Given the description of an element on the screen output the (x, y) to click on. 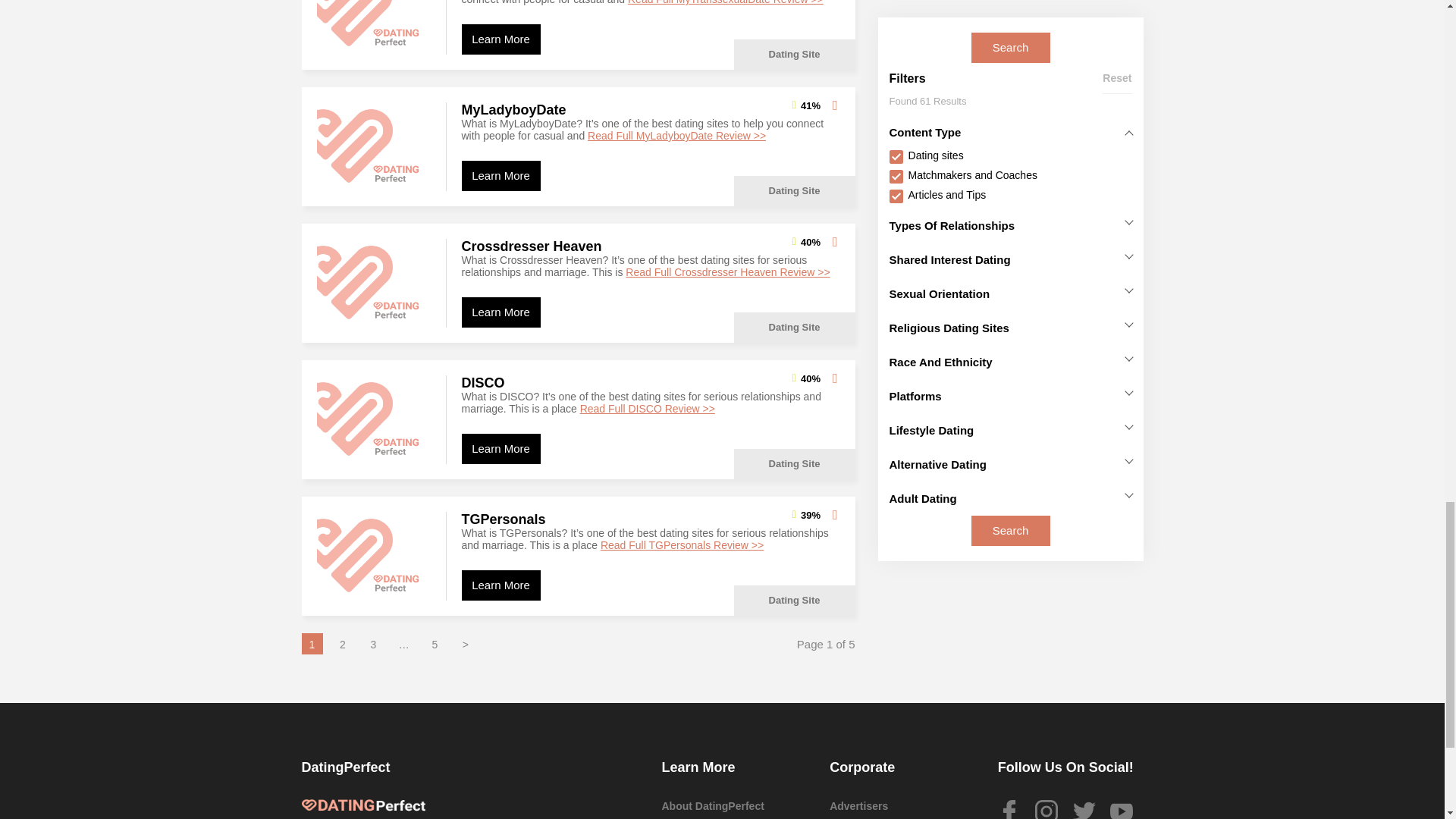
TGPersonals (373, 555)
Crossdresser Heaven (373, 283)
MyLadyboyDate (373, 146)
DISCO (373, 419)
MyTranssexualDate (373, 27)
